Given the description of an element on the screen output the (x, y) to click on. 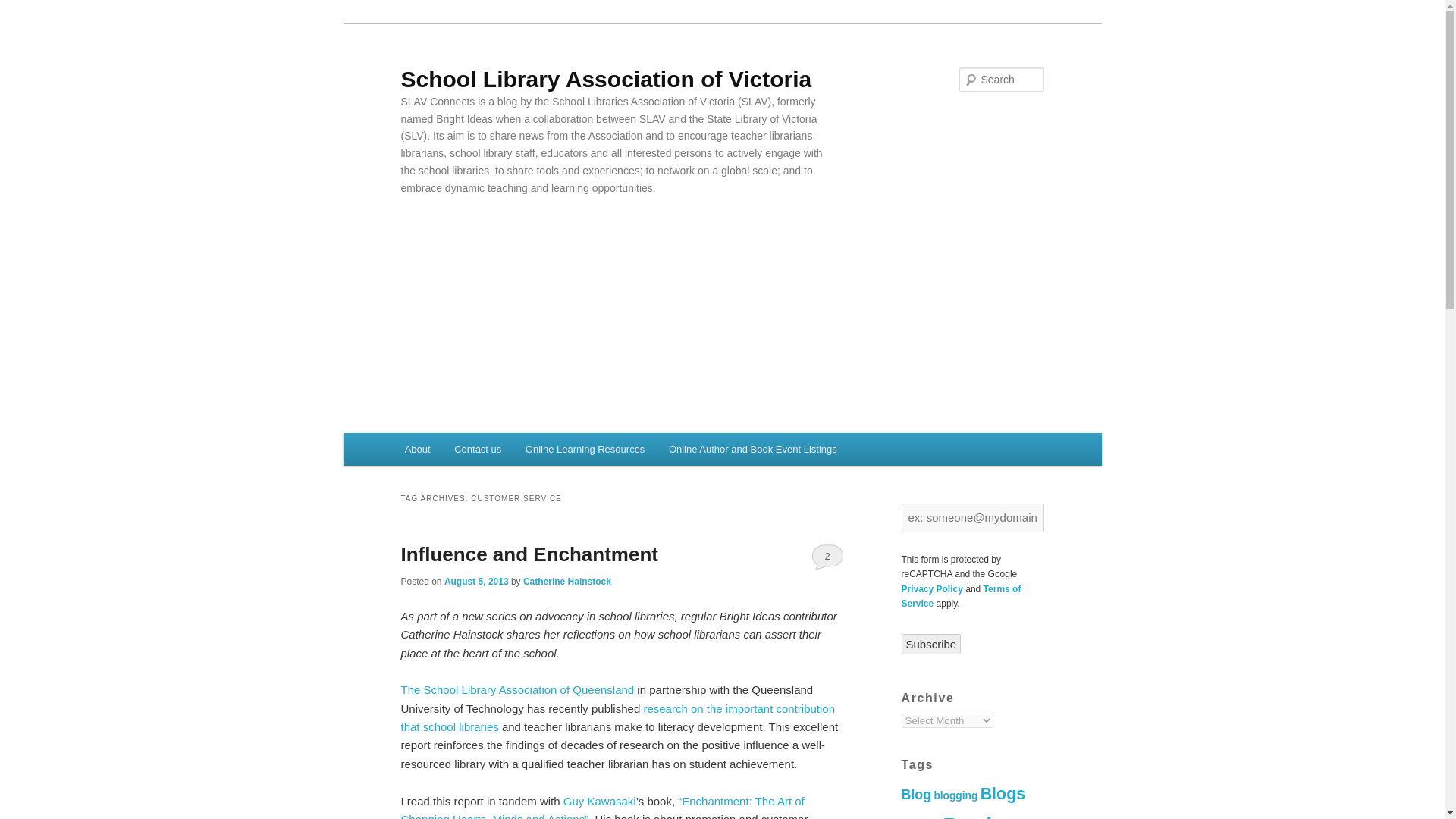
Influence and Enchantment (529, 553)
Terms of Service (960, 596)
Online Author and Book Event Listings (752, 449)
Subscribe (930, 643)
School Library Association of Queensland (516, 689)
Skip to primary content (472, 451)
The School Library Association of Queensland (516, 689)
About (417, 449)
School Library Association of Victoria (605, 78)
School Library Association of Victoria (605, 78)
